Given the description of an element on the screen output the (x, y) to click on. 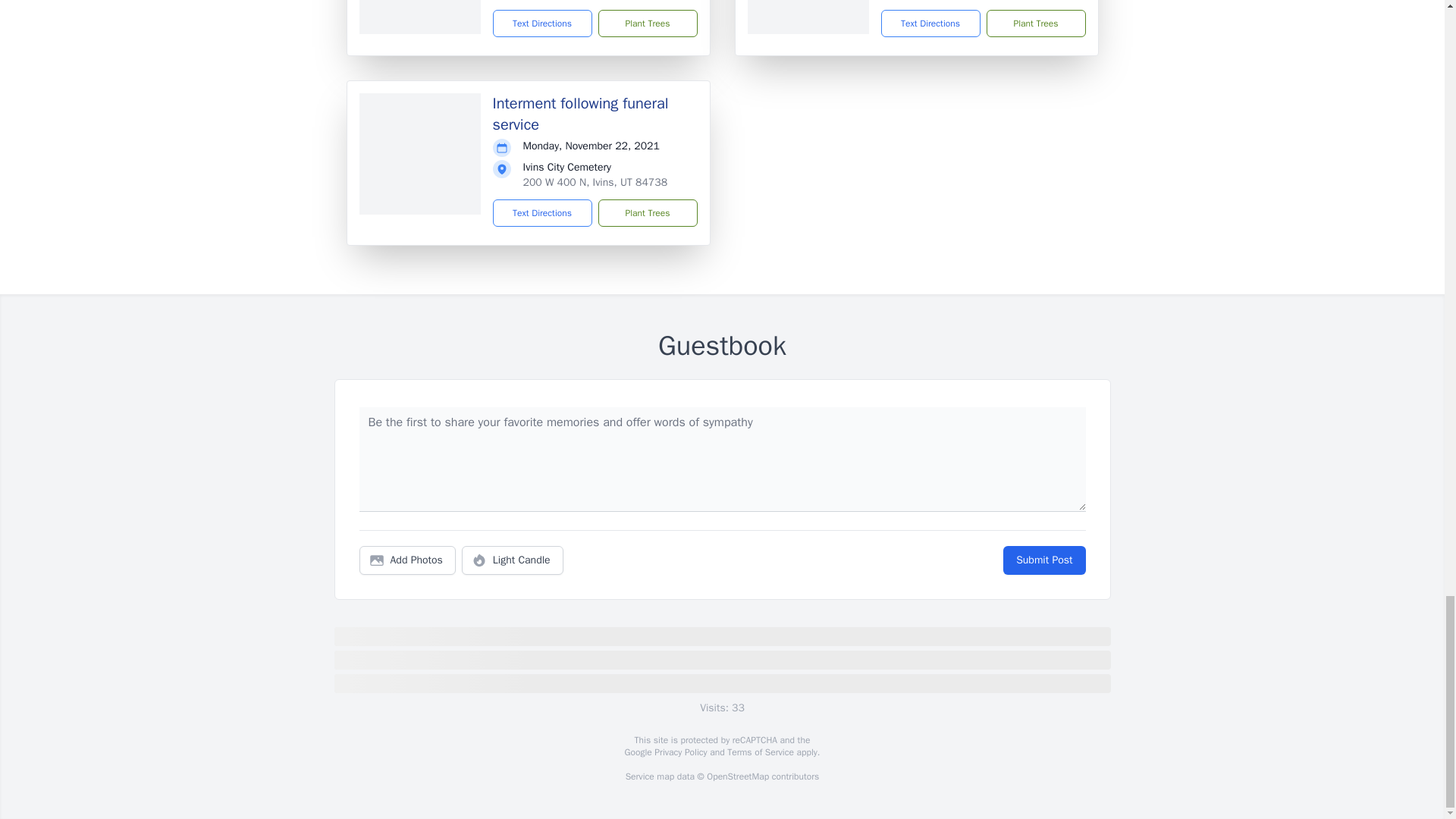
Submit Post (1043, 560)
Plant Trees (646, 22)
200 W 400 N, Ivins, UT 84738 (595, 182)
Text Directions (542, 22)
Privacy Policy (679, 752)
Light Candle (512, 560)
Plant Trees (646, 212)
Plant Trees (1034, 22)
Text Directions (542, 212)
Add Photos (407, 560)
